Given the description of an element on the screen output the (x, y) to click on. 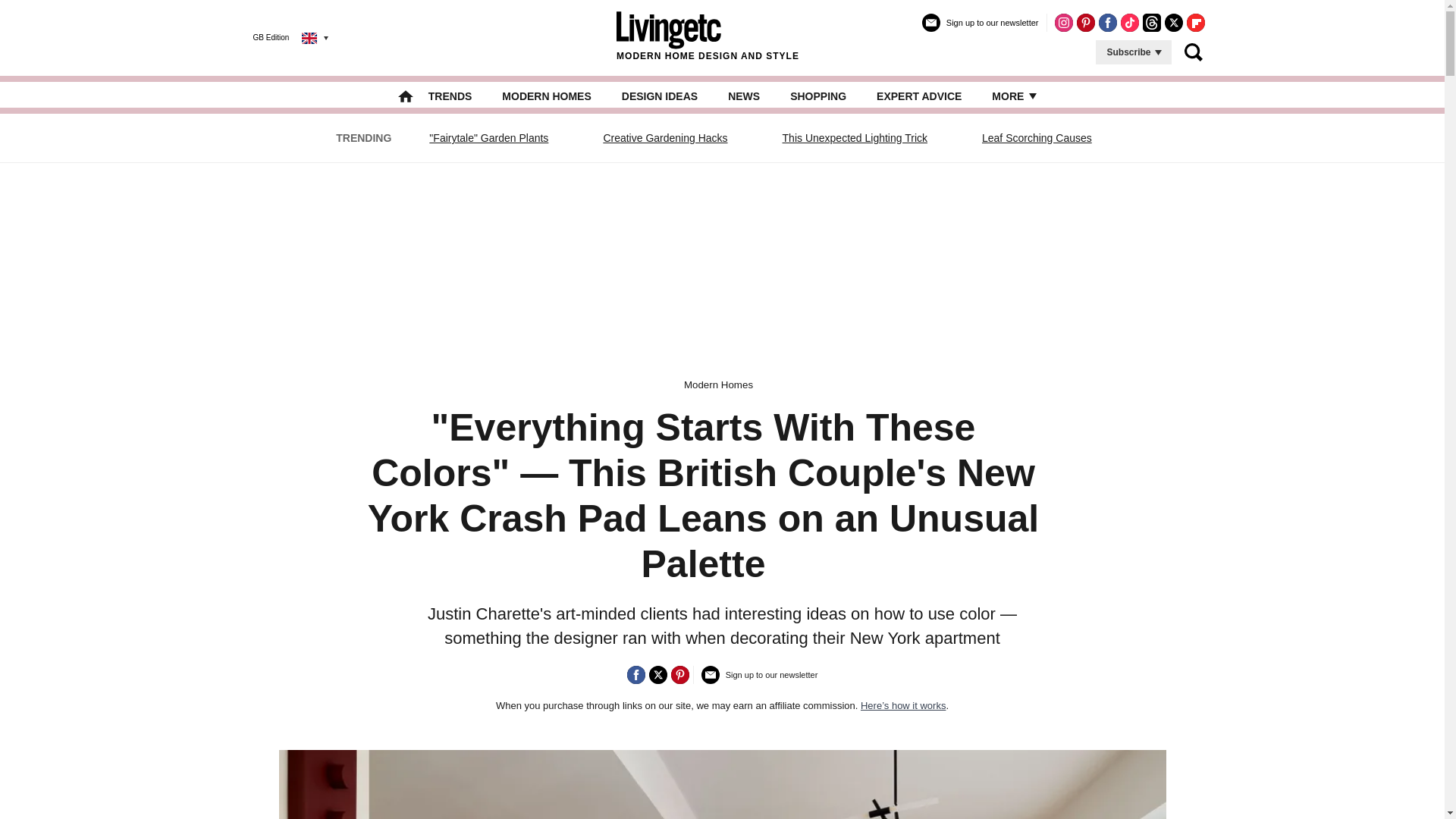
"Fairytale" Garden Plants (488, 137)
NEWS (744, 96)
MODERN HOMES (546, 96)
TRENDS (449, 96)
This Unexpected Lighting Trick (855, 137)
DESIGN IDEAS (659, 96)
MODERN HOME DESIGN AND STYLE (707, 37)
SHOPPING (817, 96)
Modern Homes (718, 384)
EXPERT ADVICE (918, 96)
Leaf Scorching Causes (1036, 137)
Sign up to our newsletter (980, 28)
Creative Gardening Hacks (664, 137)
Sign up to our newsletter (759, 680)
GB Edition (279, 37)
